Given the description of an element on the screen output the (x, y) to click on. 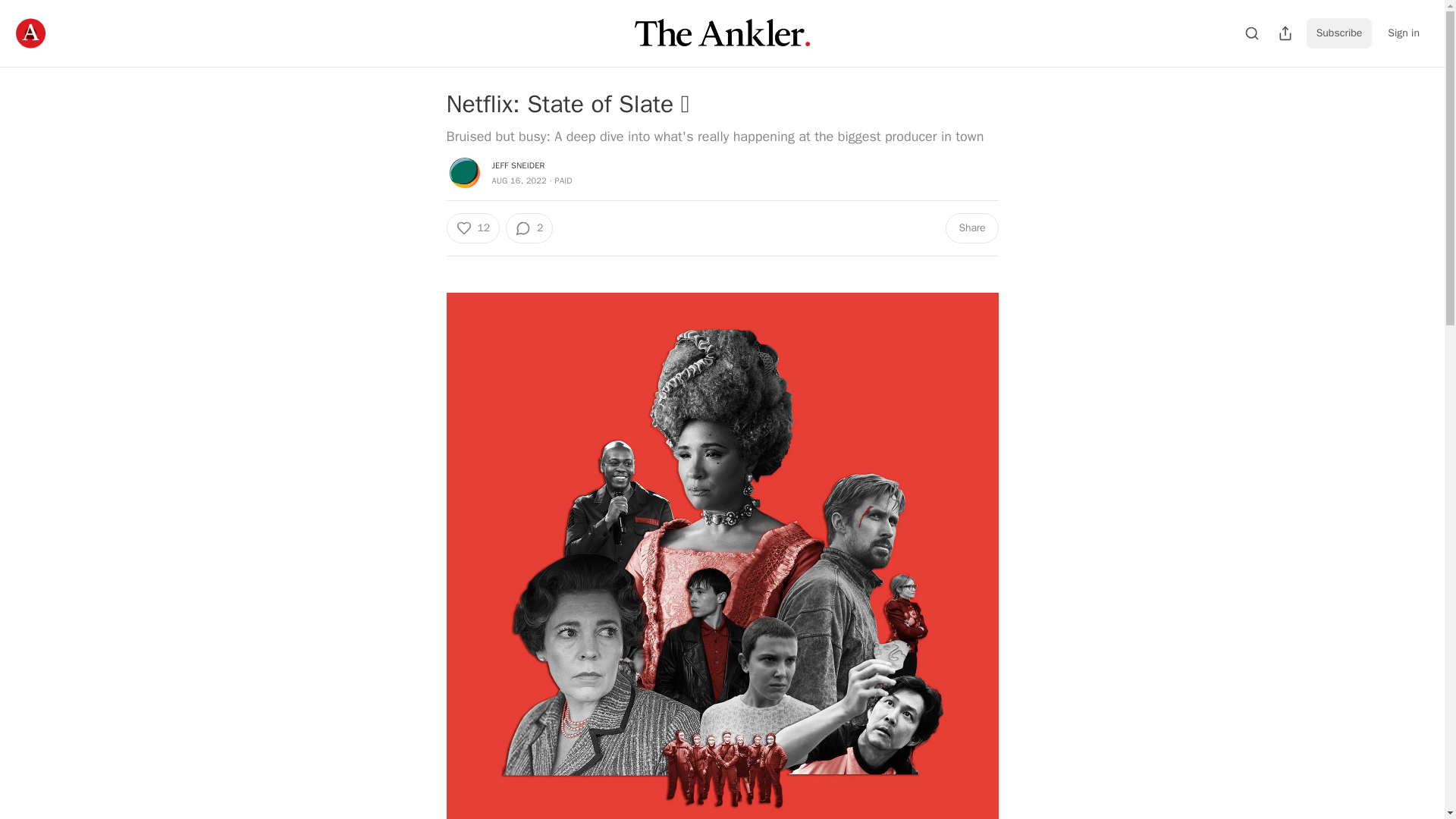
12 (472, 227)
Sign in (1403, 33)
2 (529, 227)
JEFF SNEIDER (518, 164)
Subscribe (1339, 33)
Share (970, 227)
